Given the description of an element on the screen output the (x, y) to click on. 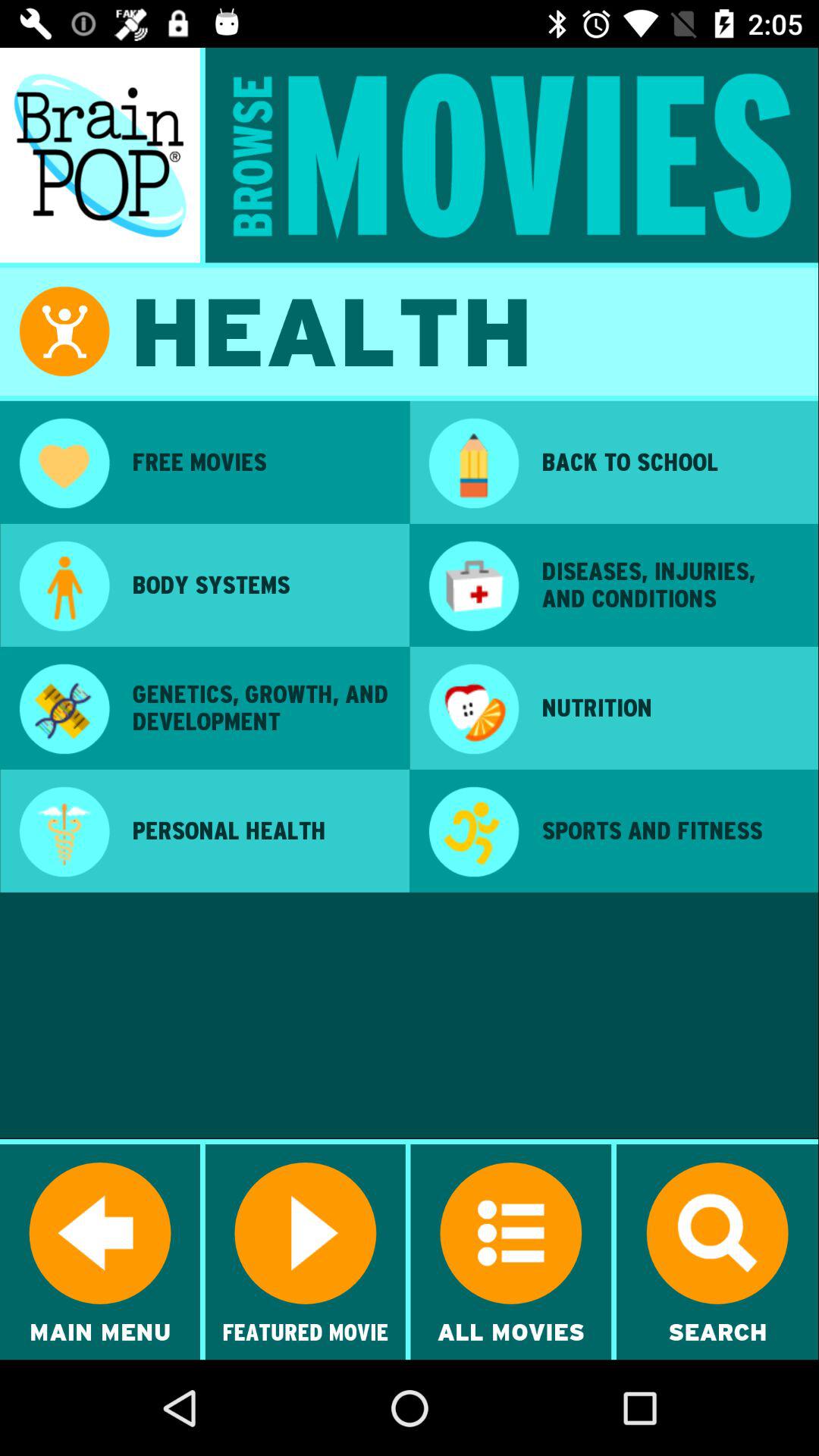
turn on the personal health item (260, 830)
